Given the description of an element on the screen output the (x, y) to click on. 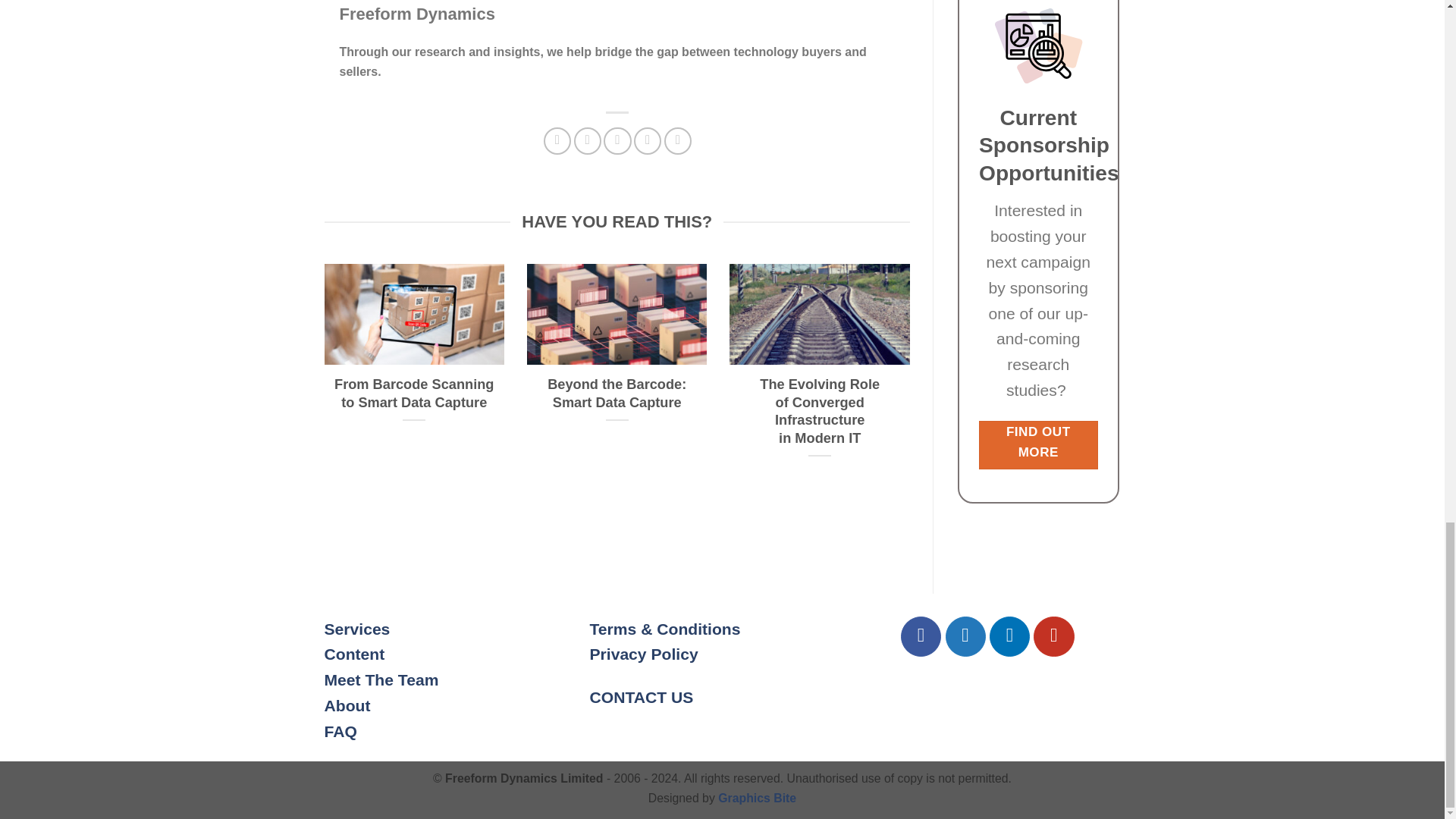
Email to a Friend (617, 140)
Share on Twitter (587, 140)
Share on LinkedIn (677, 140)
Pin on Pinterest (647, 140)
Share on Facebook (556, 140)
Freeform Dynamics (417, 13)
Follow on Facebook (920, 636)
